Given the description of an element on the screen output the (x, y) to click on. 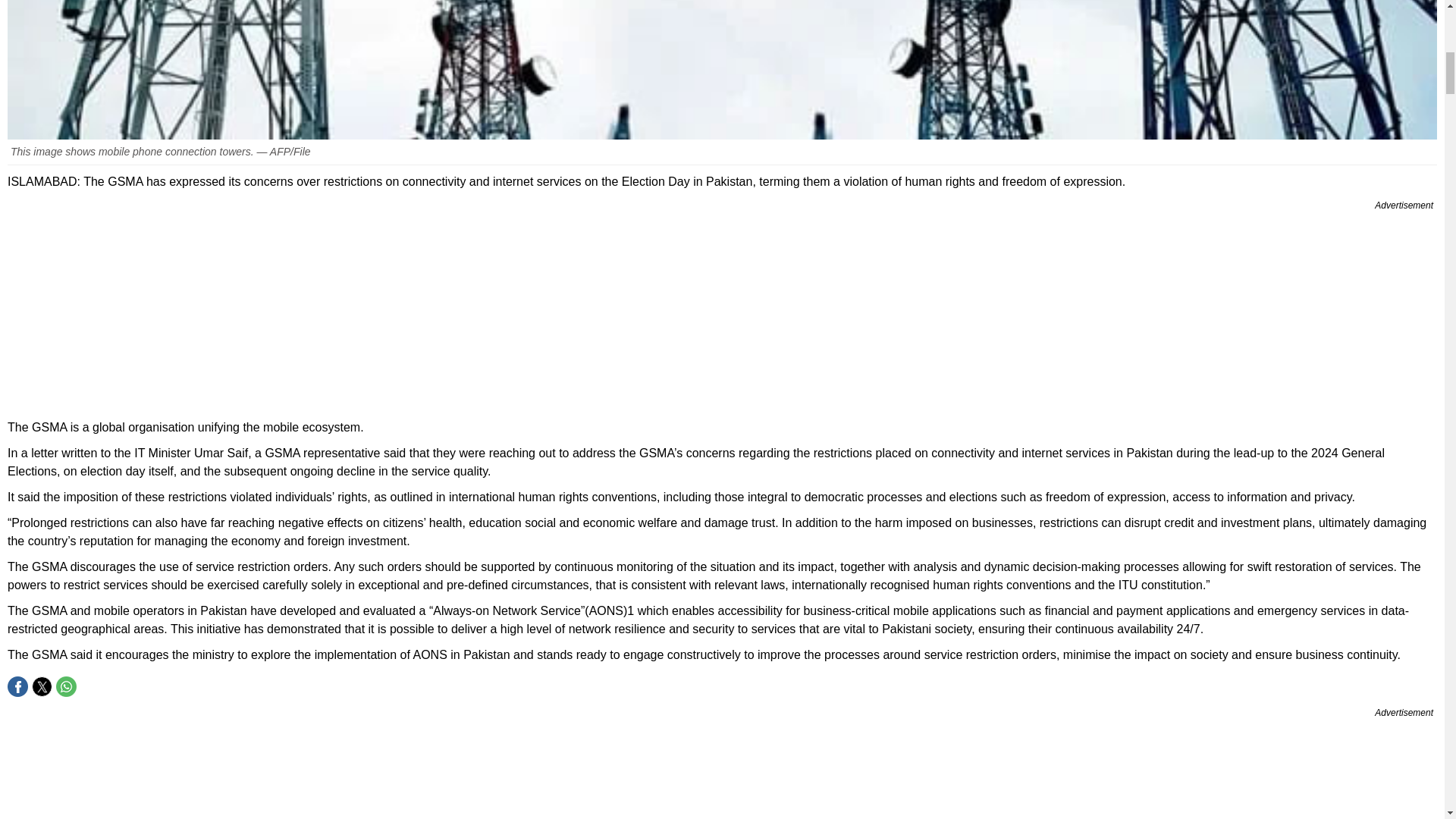
3rd party ad content (721, 310)
